Given the description of an element on the screen output the (x, y) to click on. 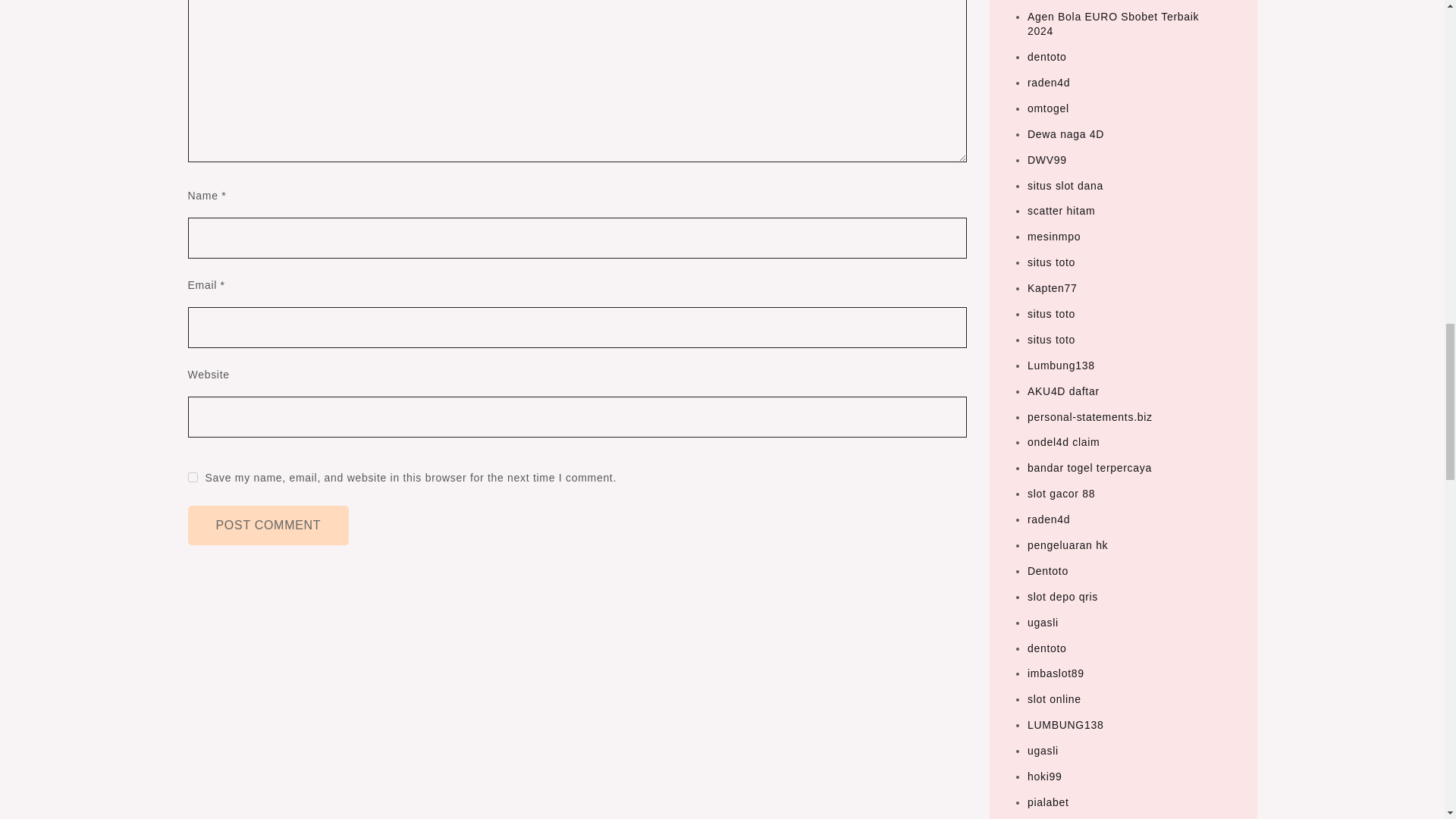
Post Comment (268, 525)
Post Comment (268, 525)
yes (192, 477)
